Given the description of an element on the screen output the (x, y) to click on. 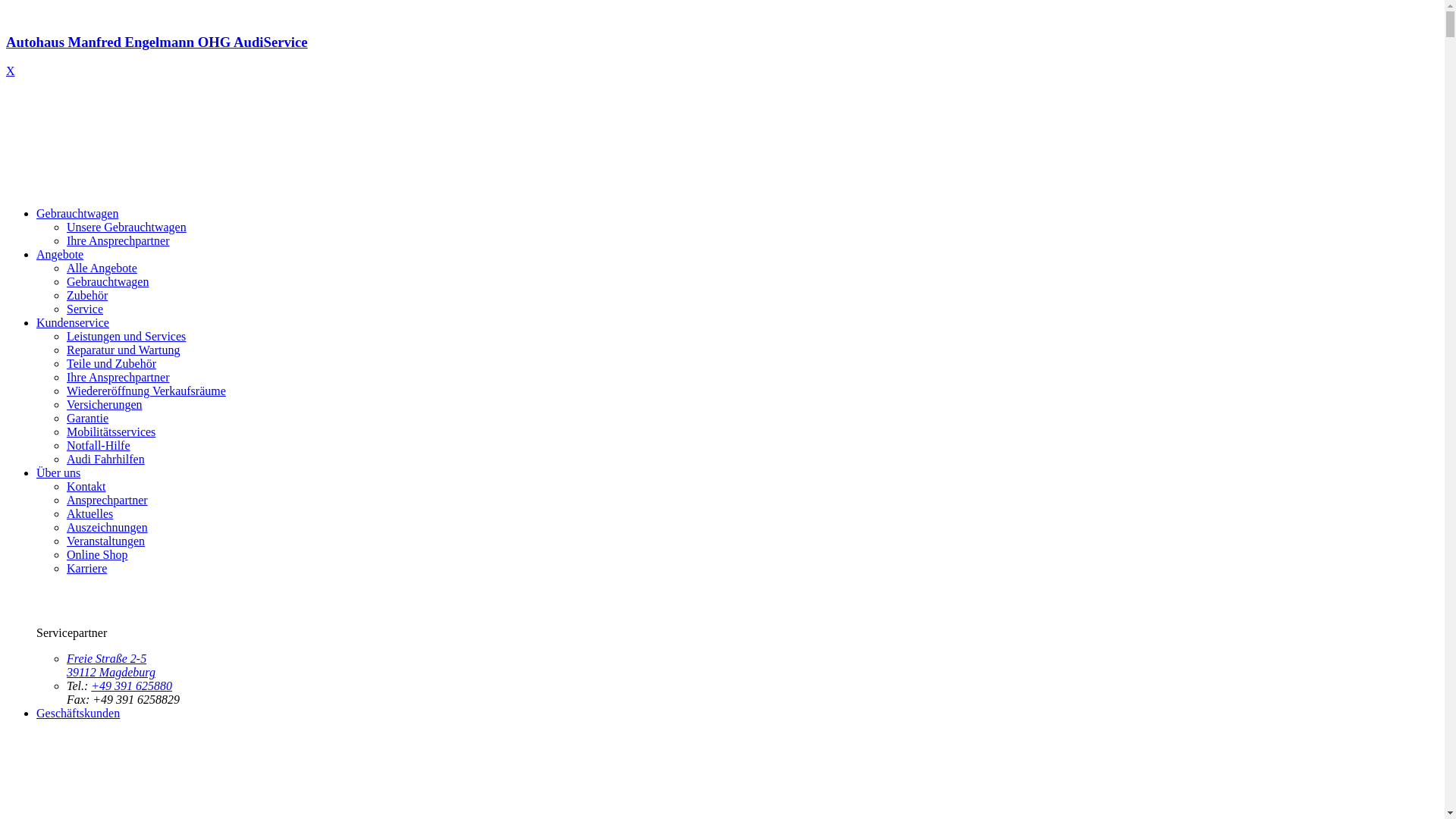
Ihre Ansprechpartner Element type: text (117, 240)
X Element type: text (10, 70)
Leistungen und Services Element type: text (125, 335)
Reparatur und Wartung Element type: text (122, 349)
Online Shop Element type: text (96, 554)
Ihre Ansprechpartner Element type: text (117, 376)
Alle Angebote Element type: text (101, 267)
Garantie Element type: text (87, 417)
+49 391 625880 Element type: text (131, 685)
Ansprechpartner Element type: text (106, 499)
Auszeichnungen Element type: text (106, 526)
Versicherungen Element type: text (104, 404)
Audi Fahrhilfen Element type: text (105, 458)
Service Element type: text (84, 308)
Unsere Gebrauchtwagen Element type: text (126, 226)
Kontakt Element type: text (86, 486)
Gebrauchtwagen Element type: text (77, 213)
Kundenservice Element type: text (72, 322)
Aktuelles Element type: text (89, 513)
Angebote Element type: text (59, 253)
Notfall-Hilfe Element type: text (98, 445)
Veranstaltungen Element type: text (105, 540)
Autohaus Manfred Engelmann OHG AudiService Element type: text (722, 56)
Gebrauchtwagen Element type: text (107, 281)
Karriere Element type: text (86, 567)
